Given the description of an element on the screen output the (x, y) to click on. 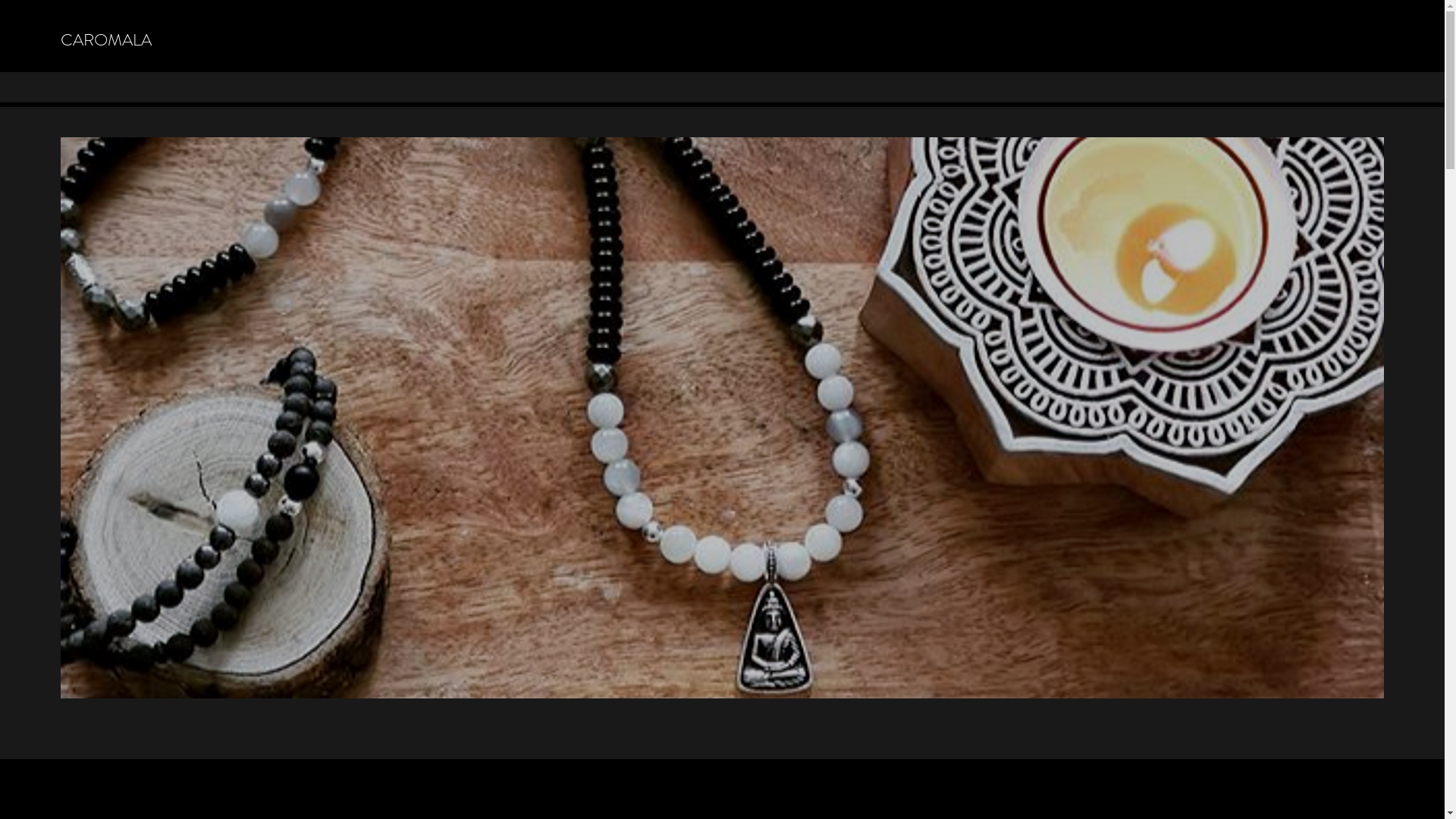
A propos Element type: text (133, 86)
Se connecter Element type: text (1325, 86)
Boutique Element type: text (393, 86)
Accueil Element type: text (78, 86)
0 Element type: text (1374, 86)
Le mala Element type: text (188, 86)
Contact Element type: text (298, 86)
CAROMALA Element type: text (105, 39)
Tarifs Element type: text (344, 86)
